Given the description of an element on the screen output the (x, y) to click on. 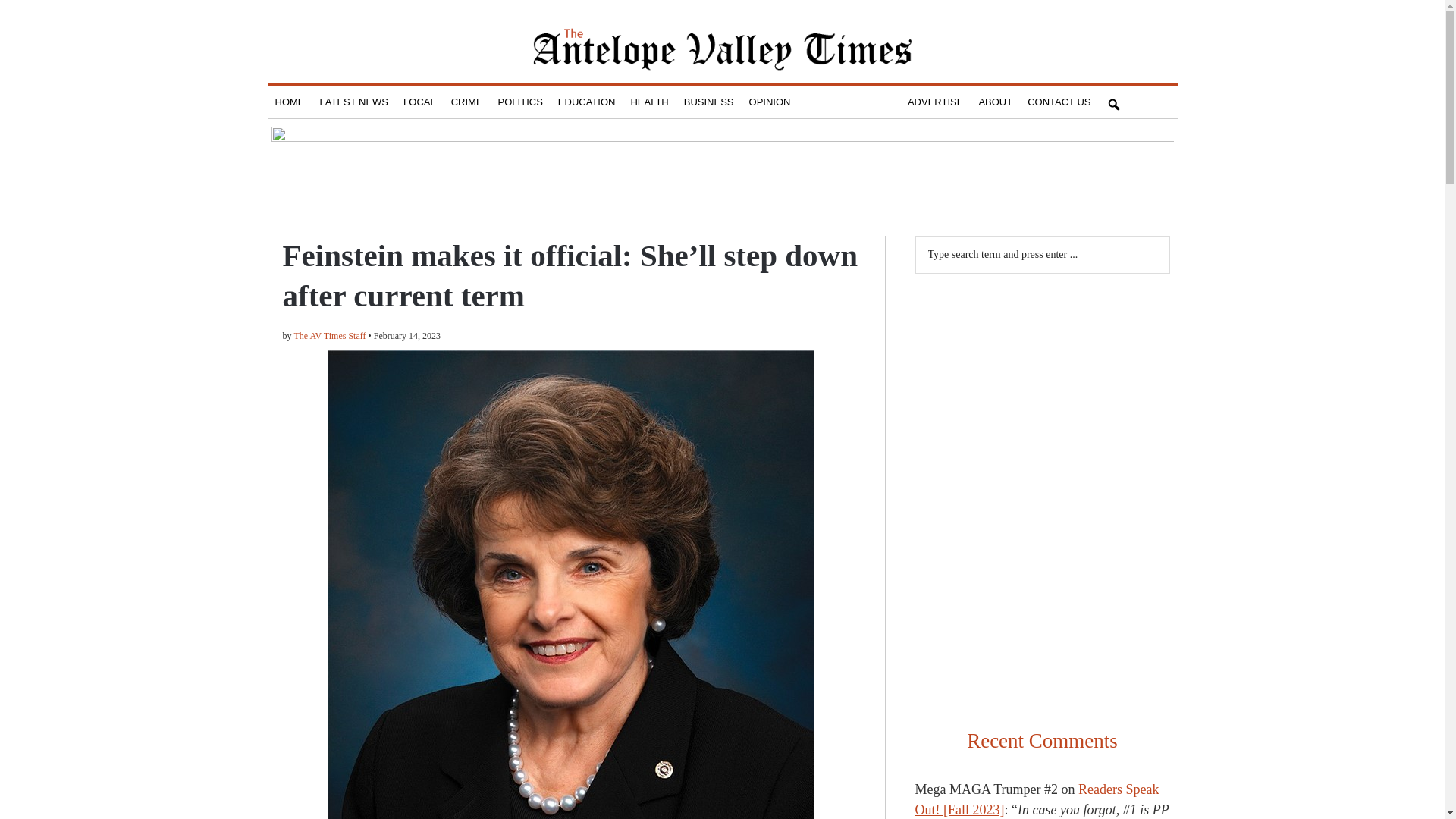
The Antelope Valley Times (721, 49)
OPINION (769, 101)
POLITICS (520, 101)
Advertisement (1041, 387)
EDUCATION (586, 101)
ADVERTISE (935, 101)
SHOW SEARCH (1112, 101)
ABOUT (995, 101)
BUSINESS (709, 101)
The AV Times Staff (330, 335)
HEALTH (649, 101)
HOME (288, 101)
Advertisement (1041, 607)
CONTACT US (1058, 101)
